Given the description of an element on the screen output the (x, y) to click on. 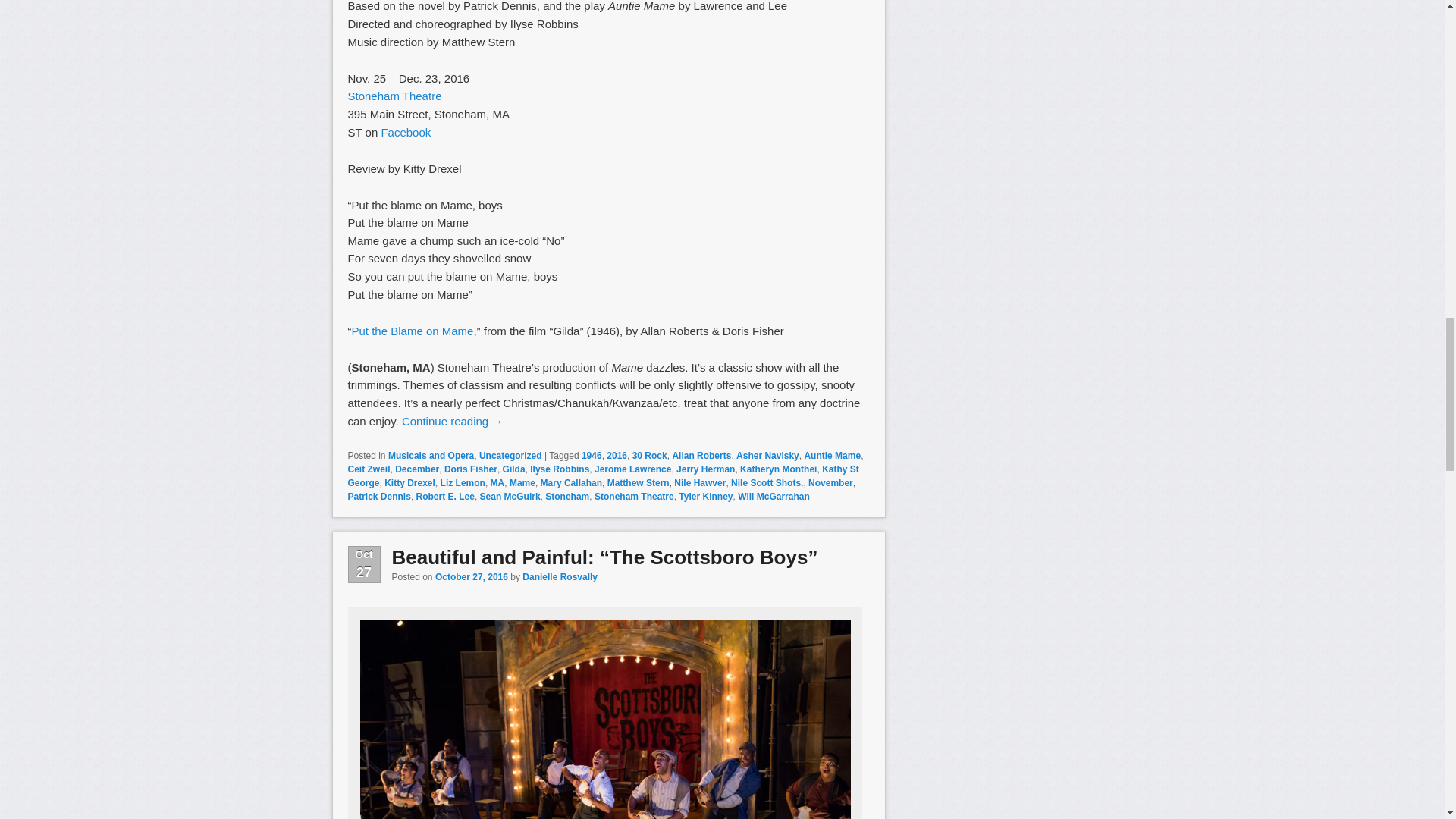
Facebook (405, 132)
Put the Blame on Mame (413, 330)
Uncategorized (510, 455)
Stoneham Theatre (394, 95)
9:42 am (471, 576)
Musicals and Opera (431, 455)
View all posts by Danielle Rosvally (559, 576)
1946 (591, 455)
